Given the description of an element on the screen output the (x, y) to click on. 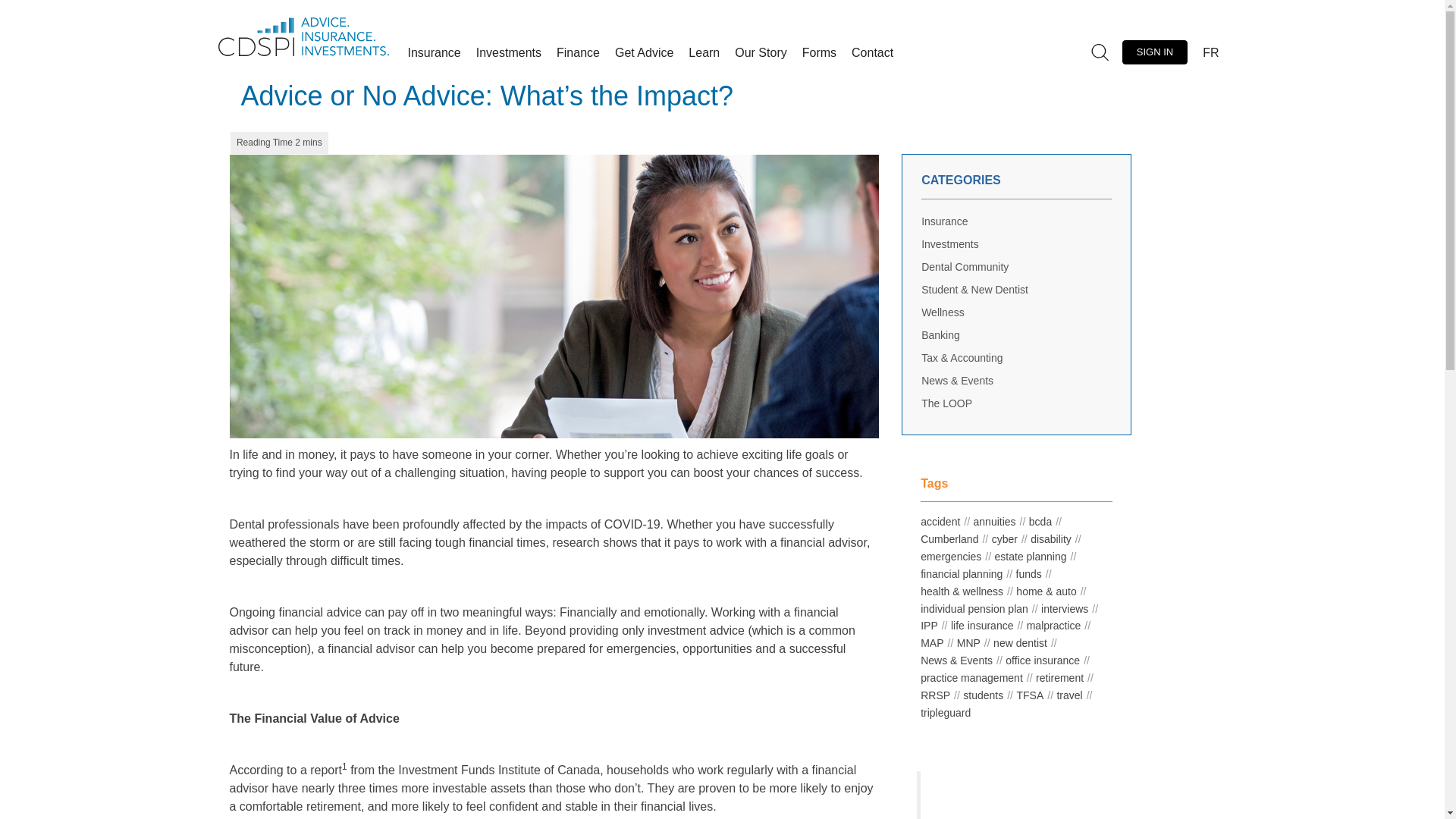
Our Story (759, 52)
Get Advice (644, 52)
Insurance (434, 52)
Investments (508, 52)
Learn (703, 52)
Finance (577, 52)
